Given the description of an element on the screen output the (x, y) to click on. 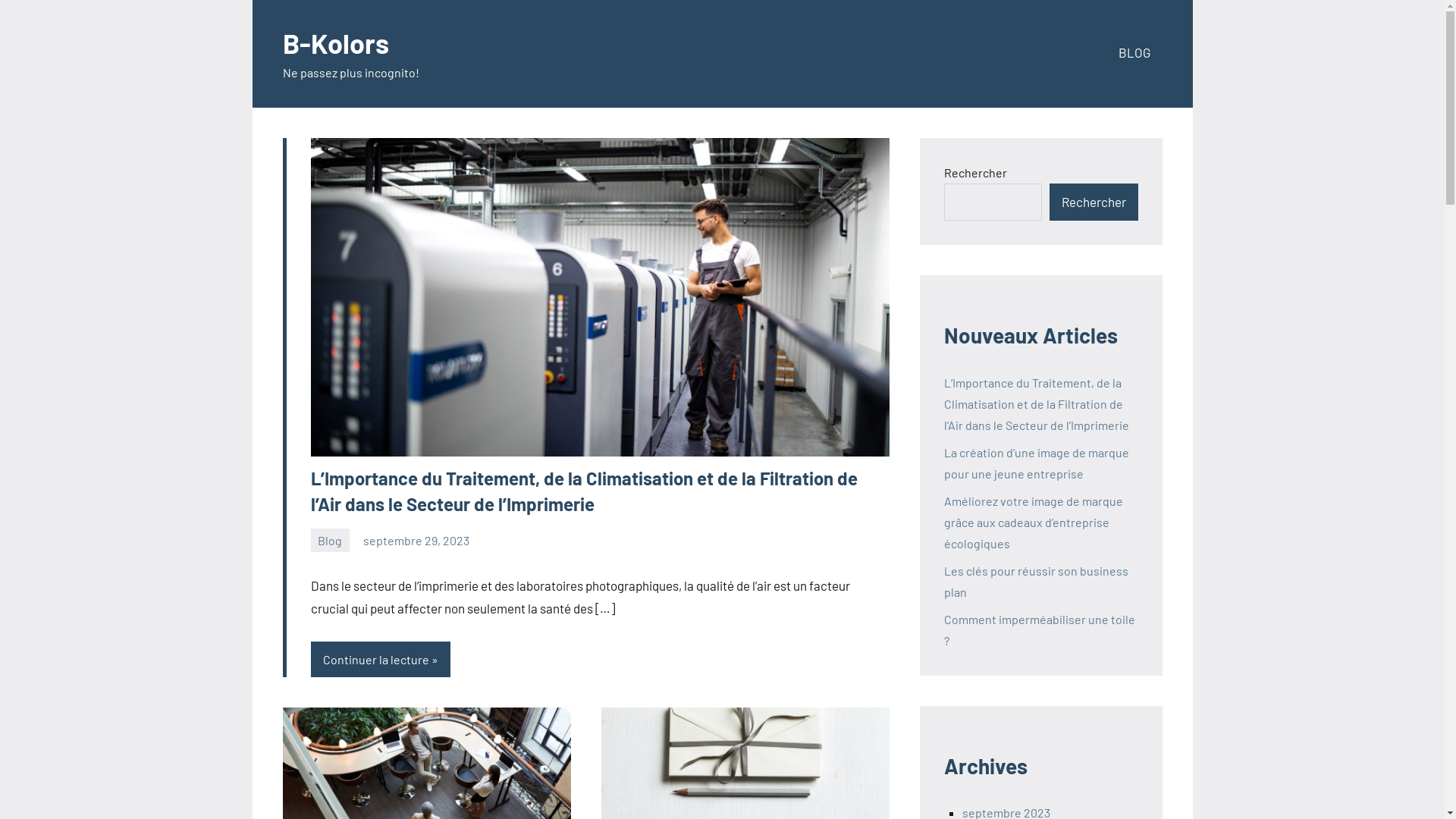
septembre 29, 2023 Element type: text (416, 540)
Rechercher Element type: text (1093, 201)
Blog Element type: text (329, 540)
BLOG Element type: text (1133, 54)
B-Kolors Element type: text (335, 42)
Continuer la lecture Element type: text (380, 659)
